Given the description of an element on the screen output the (x, y) to click on. 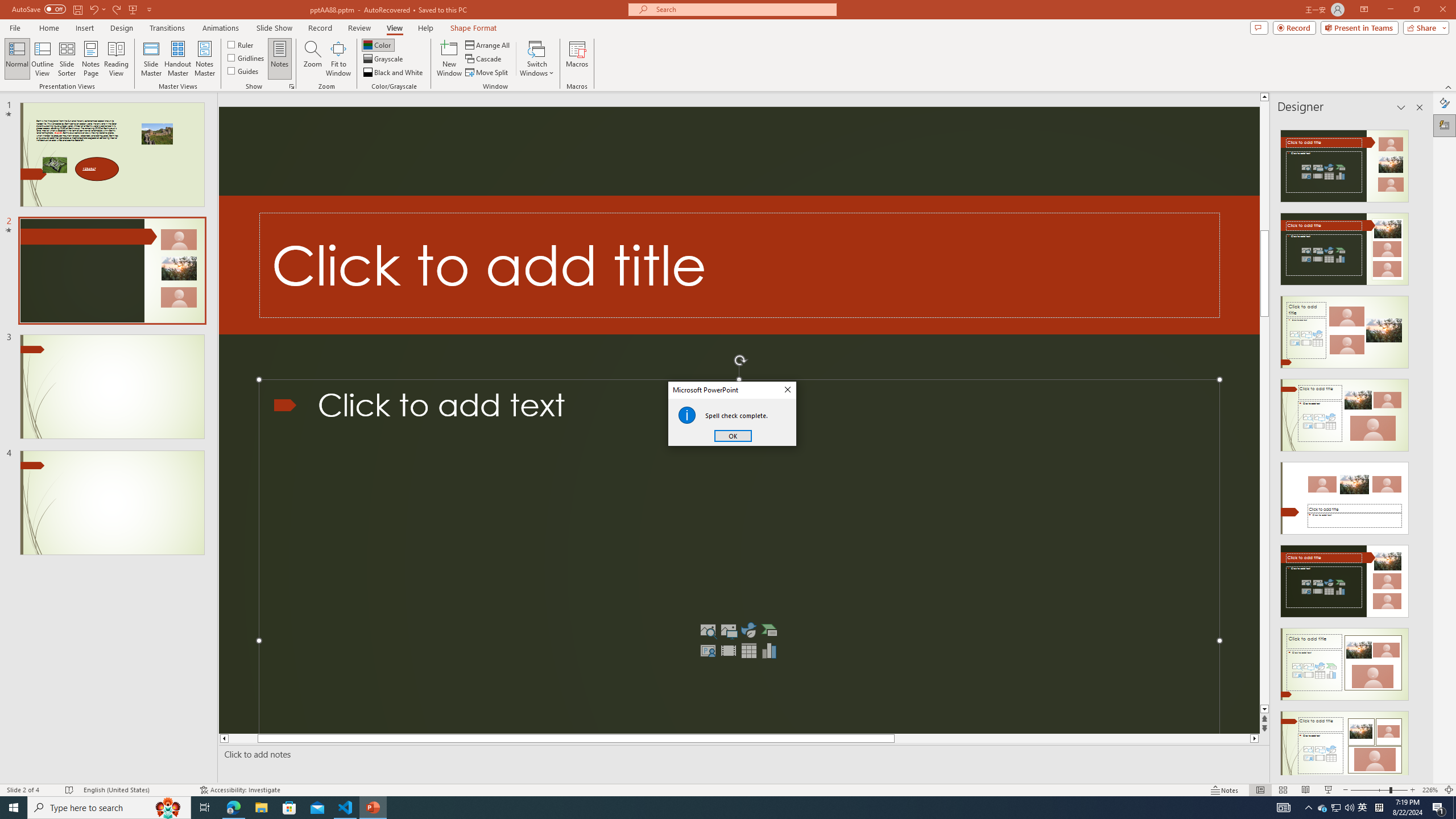
Gridlines (246, 56)
Notes Master (204, 58)
New Window (449, 58)
